Given the description of an element on the screen output the (x, y) to click on. 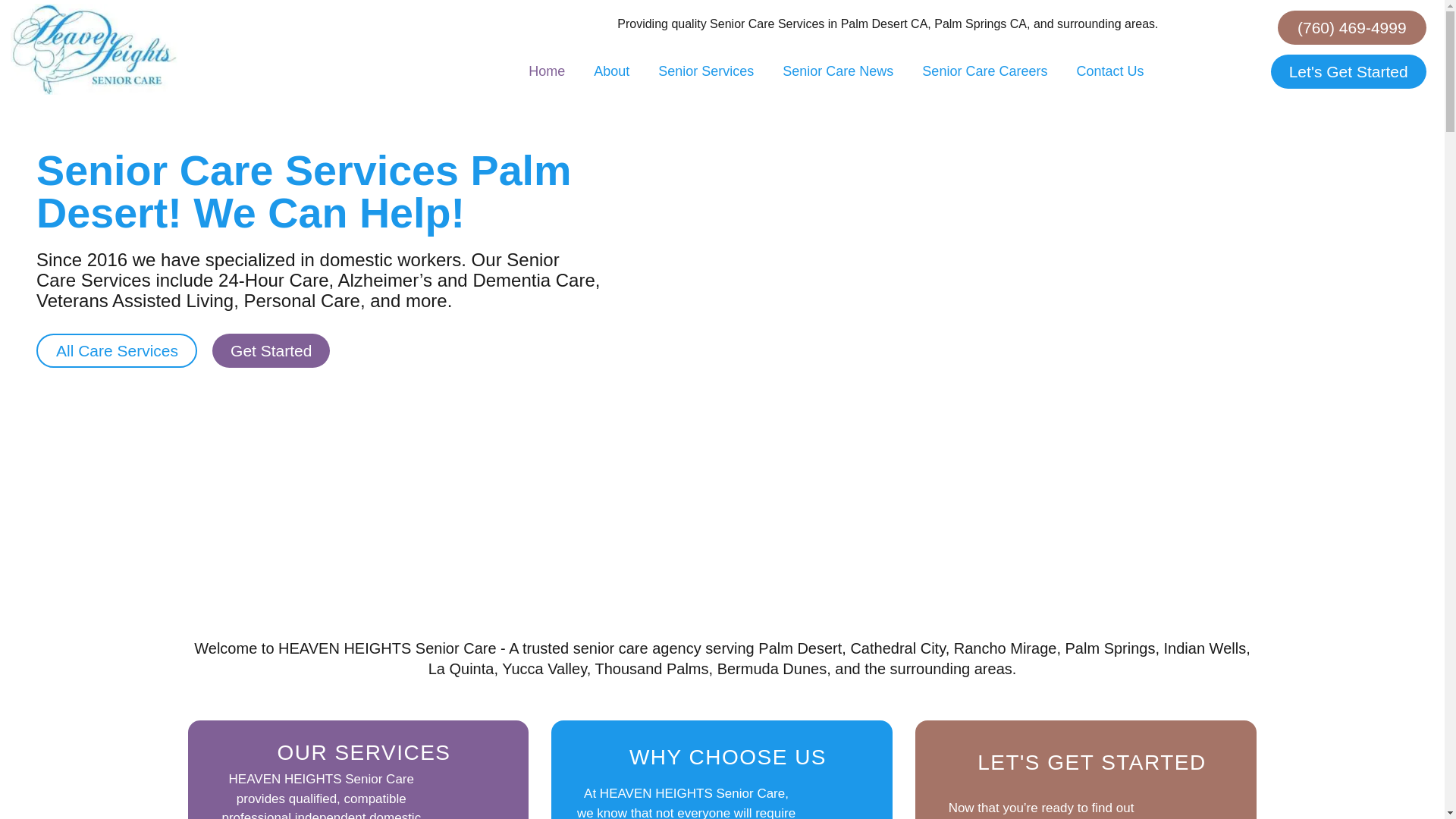
All Care Services (116, 350)
Senior Care Careers (984, 70)
About (611, 70)
Let's Get Started (1348, 71)
Contact Us (1109, 70)
Get Started (271, 350)
Senior Care News (837, 70)
Home (546, 70)
Senior Services (705, 70)
